Given the description of an element on the screen output the (x, y) to click on. 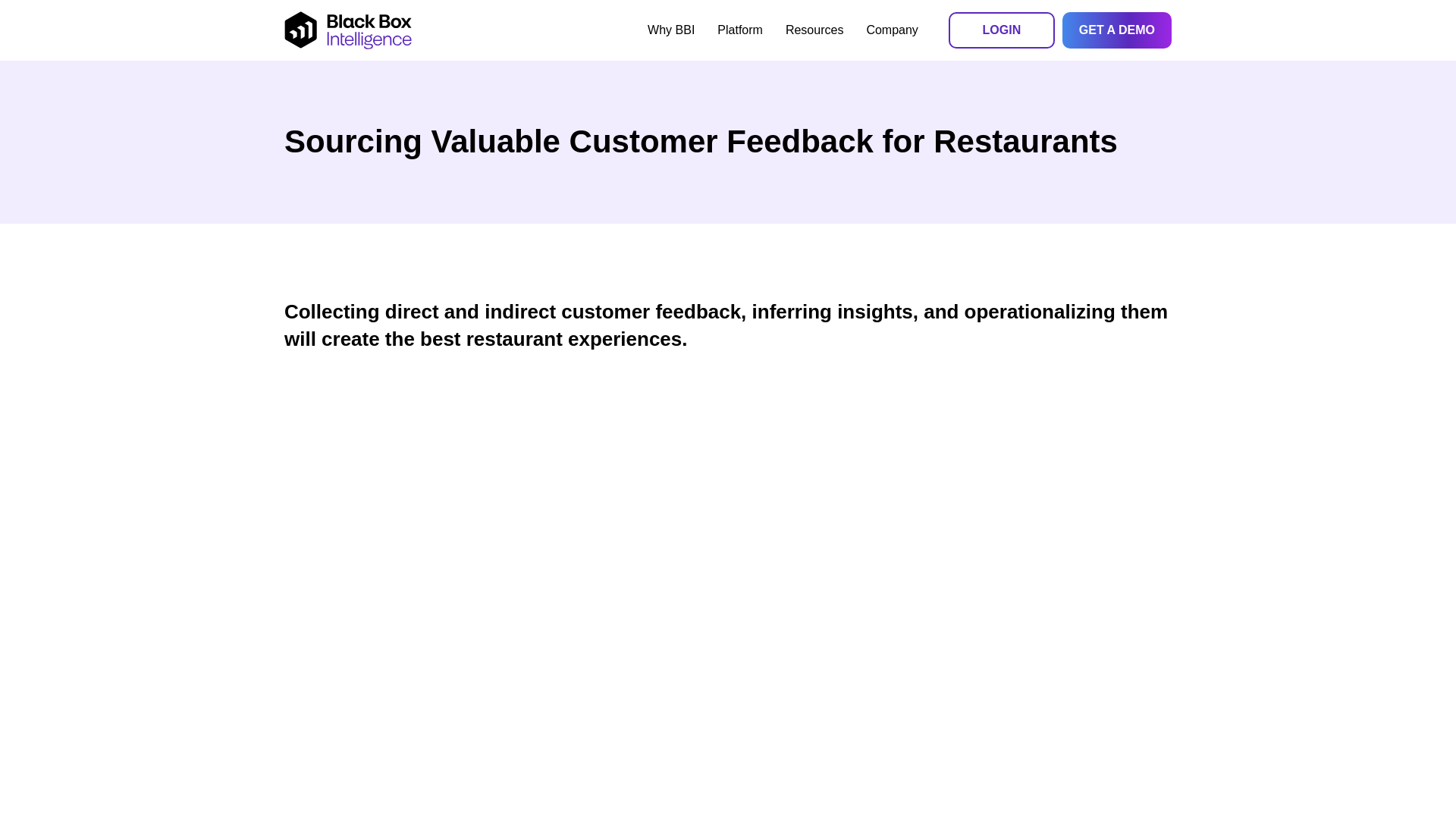
Resources (814, 30)
Sourcing Valuable Customer Feedback for Restaurants (727, 141)
LOGIN (1001, 30)
GET A DEMO (1117, 30)
